Given the description of an element on the screen output the (x, y) to click on. 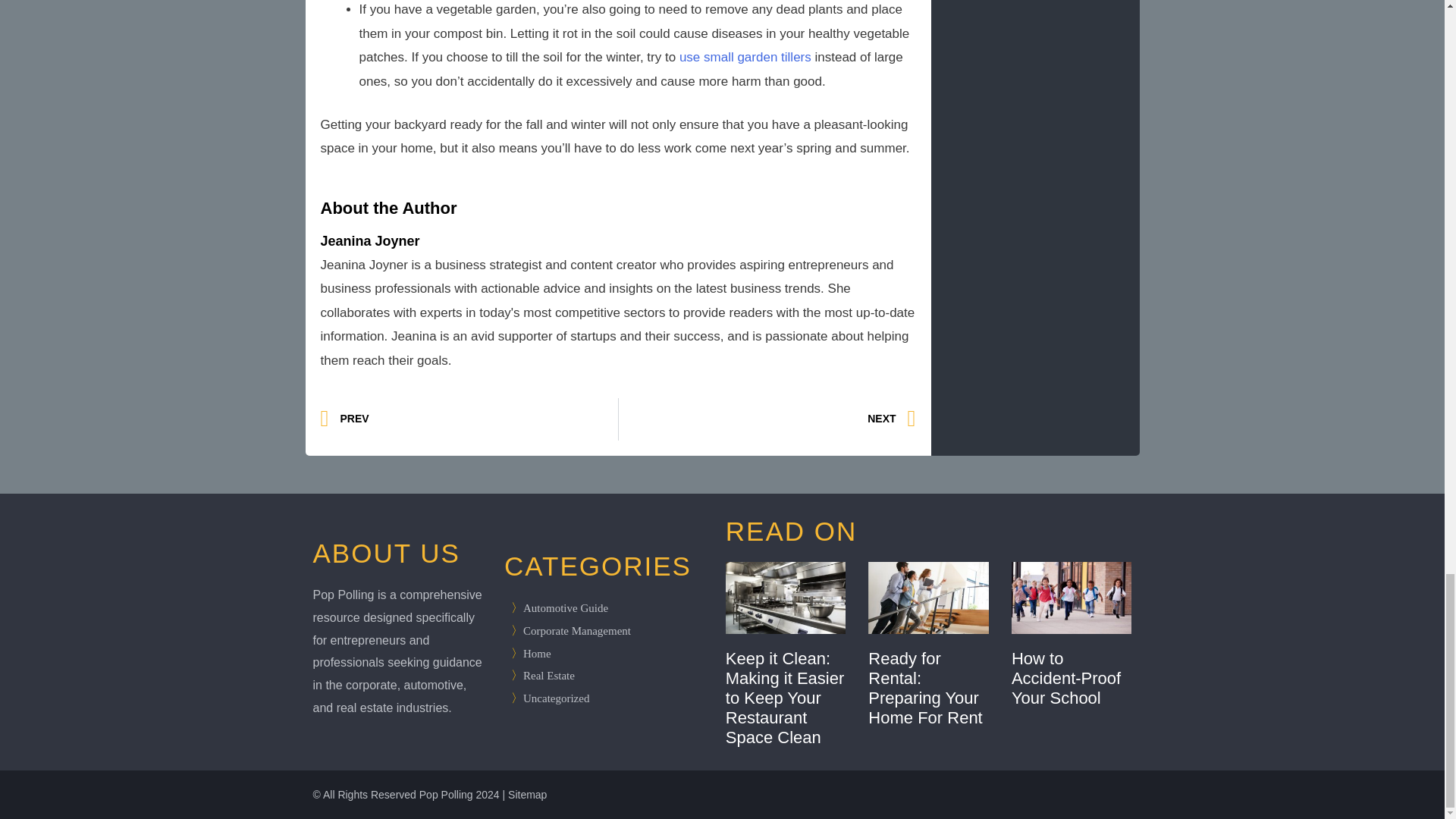
use small garden tillers (766, 419)
